Given the description of an element on the screen output the (x, y) to click on. 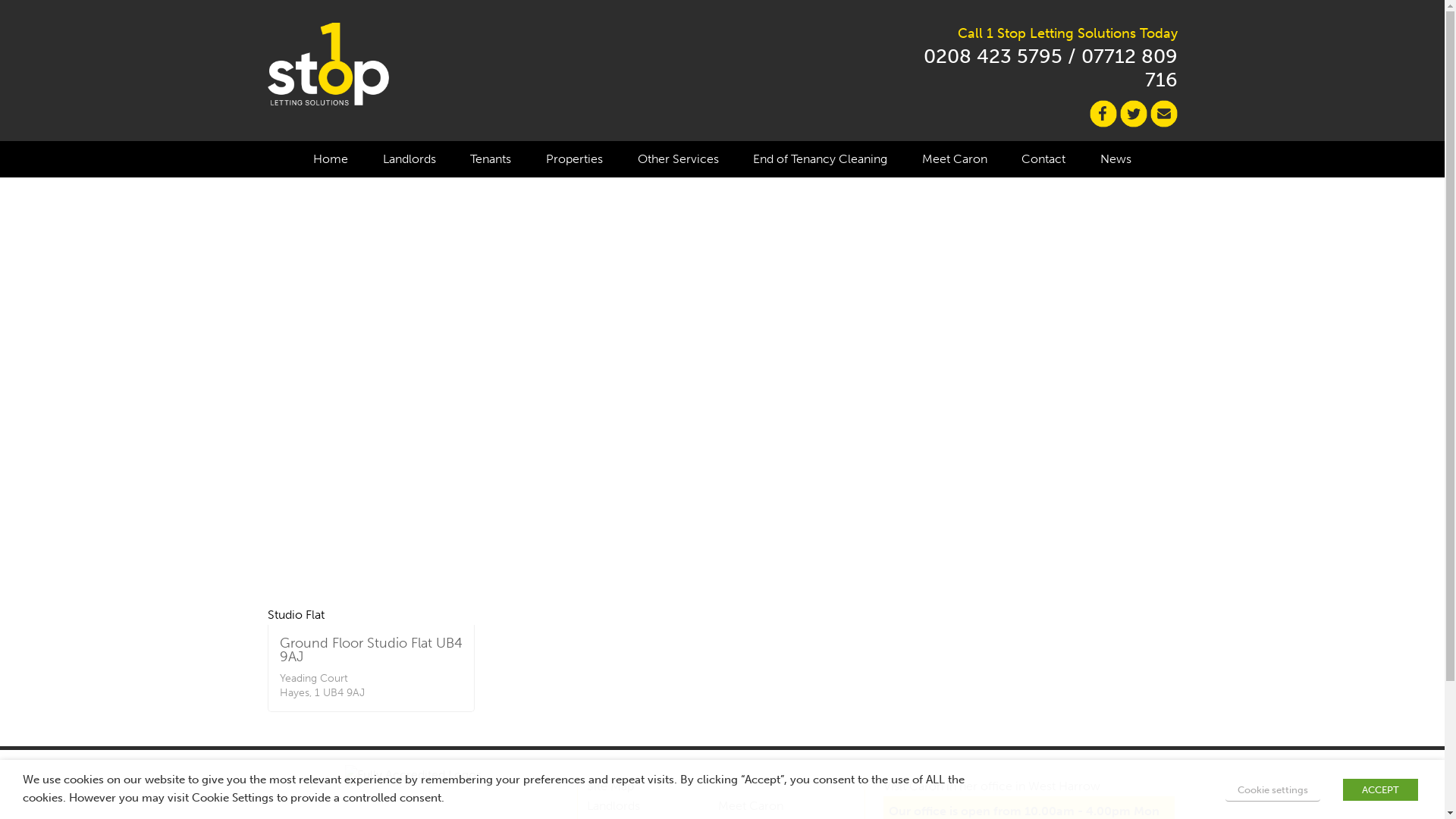
Home Element type: text (330, 159)
News Element type: text (1115, 159)
Properties Element type: text (574, 159)
07712 809 716 Element type: text (1129, 67)
Landlords Element type: text (409, 159)
Skip to primary content Element type: text (16, 141)
Meet Caron Element type: text (750, 805)
Landlords Element type: text (613, 805)
Ground Floor Studio Flat UB4 9AJ Element type: text (370, 649)
Contact Element type: text (1043, 159)
End of Tenancy Cleaning Element type: text (820, 159)
Tenants Element type: text (491, 159)
0208 423 5795 Element type: text (992, 56)
Other Services Element type: text (677, 159)
Cookie settings Element type: text (1272, 789)
ACCEPT Element type: text (1380, 789)
Meet Caron Element type: text (954, 159)
